Given the description of an element on the screen output the (x, y) to click on. 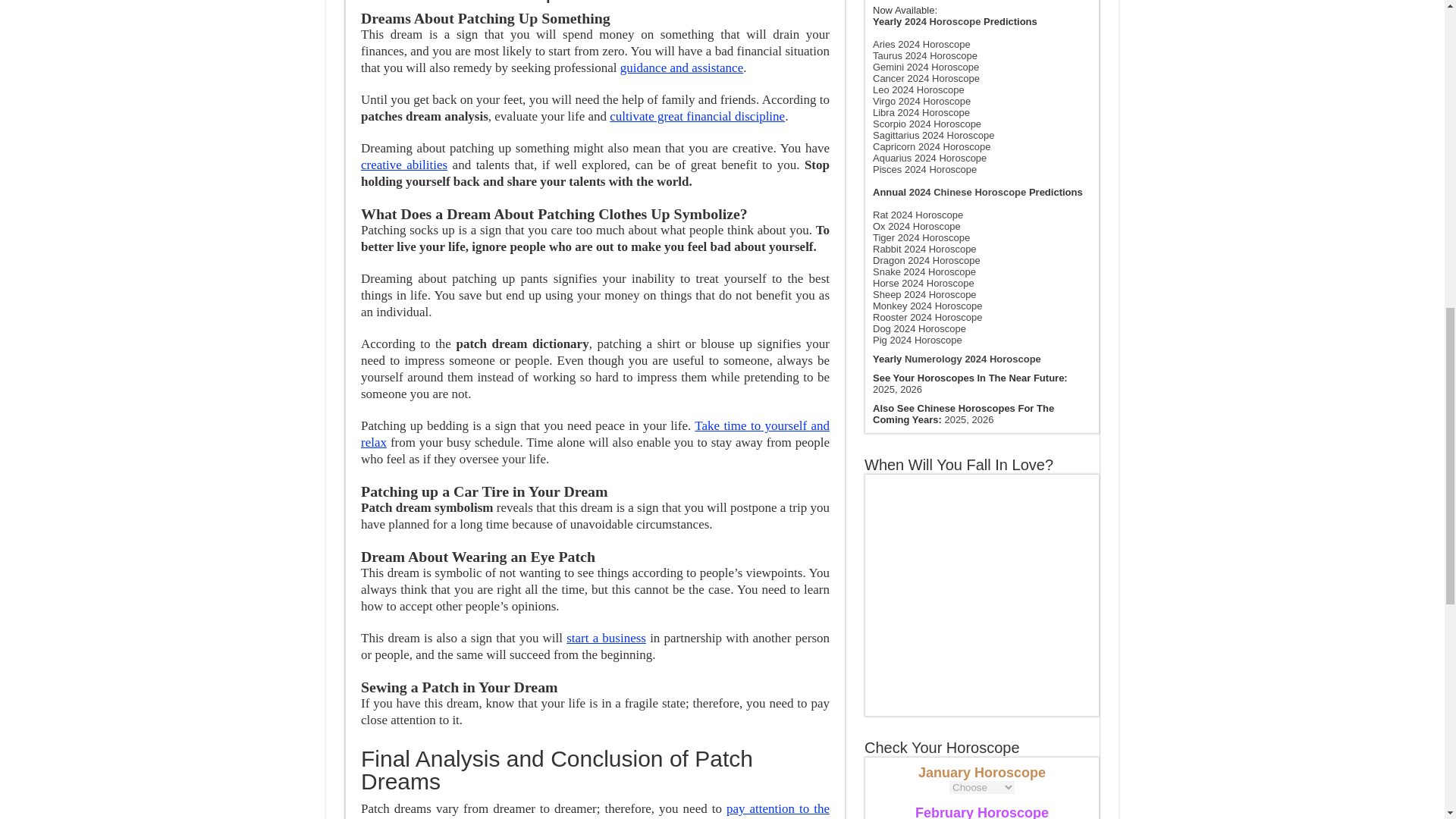
creative abilities (403, 164)
Aries 2024 Horoscope (921, 43)
2024 Horoscope (941, 21)
cultivate great financial discipline (697, 115)
pay attention to the details of your dream (595, 810)
Take time to yourself and relax (595, 433)
Taurus 2024 Horoscope (924, 55)
Gemini 2024 Horoscope (925, 66)
start a business (606, 637)
2024 Horoscope (941, 21)
